Given the description of an element on the screen output the (x, y) to click on. 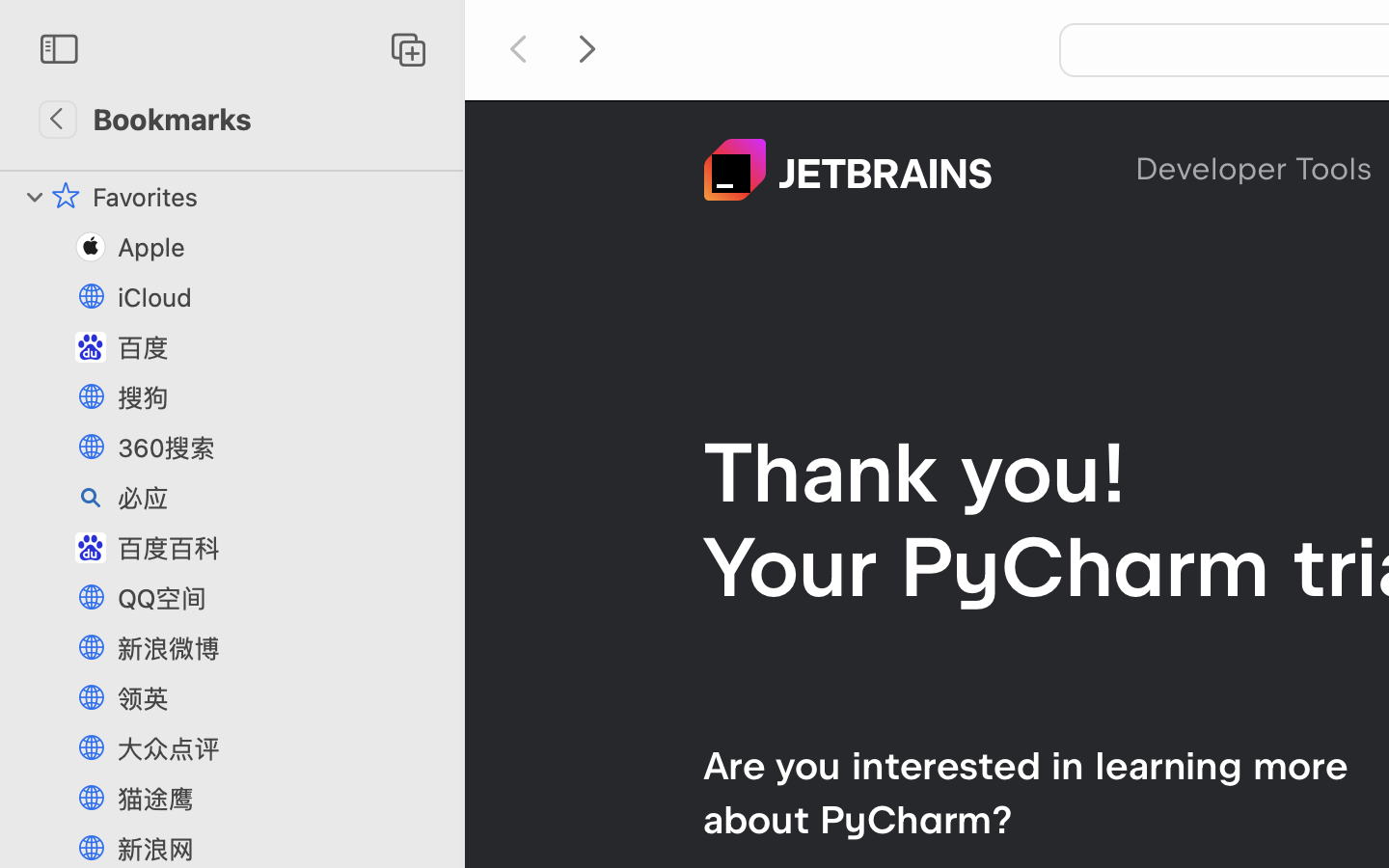
新浪网 Element type: AXTextField (280, 848)
搜狗 Element type: AXTextField (280, 396)
领英 Element type: AXTextField (280, 697)
百度 Element type: AXTextField (280, 346)
必应 Element type: AXTextField (280, 497)
